Given the description of an element on the screen output the (x, y) to click on. 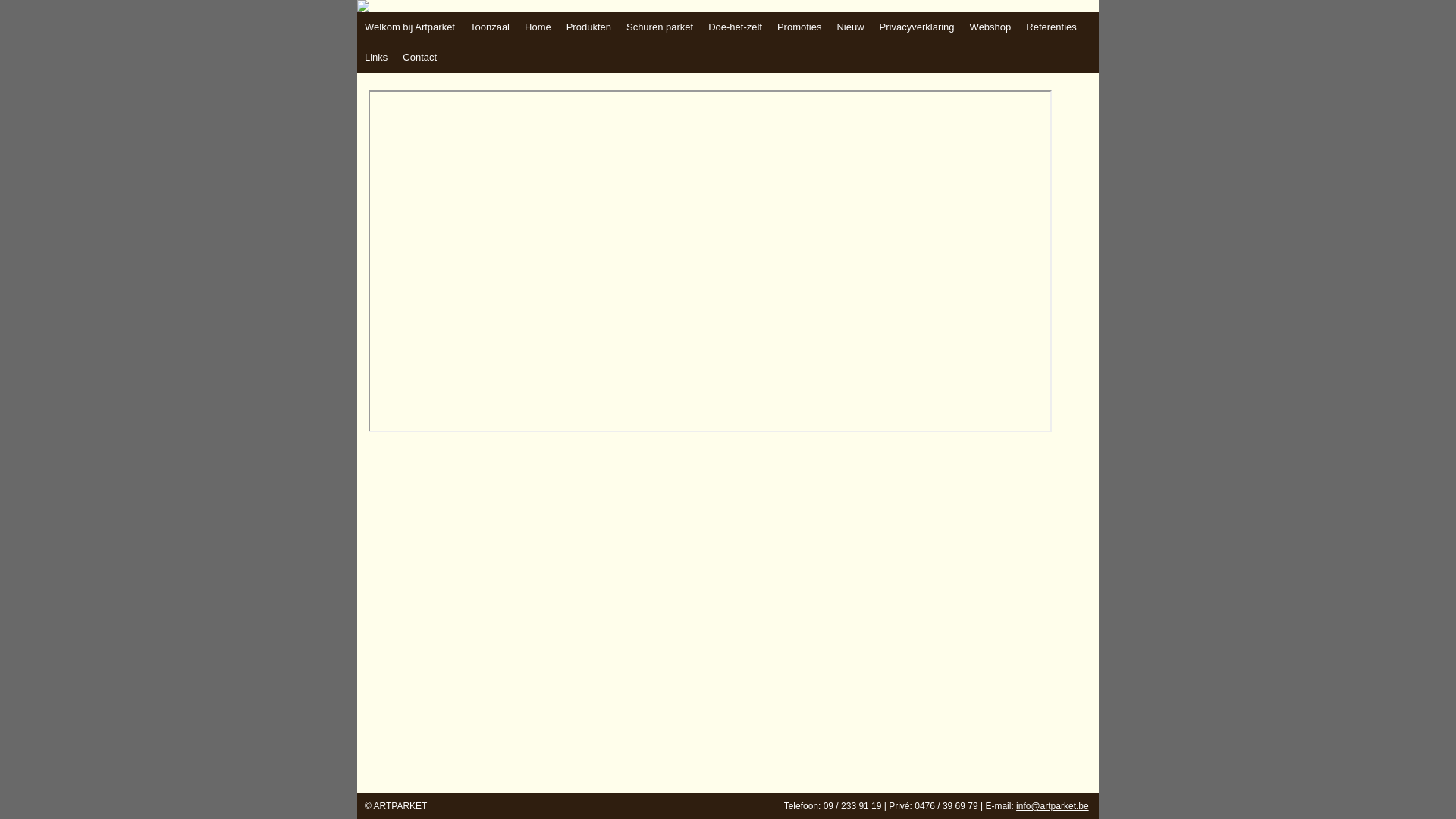
Schuren parket Element type: text (659, 27)
Doe-het-zelf Element type: text (734, 27)
Welkom bij Artparket Element type: text (409, 27)
Webshop Element type: text (990, 27)
Home Element type: text (537, 27)
Privacyverklaring Element type: text (917, 27)
Referenties Element type: text (1050, 27)
Produkten Element type: text (588, 27)
info@artparket.be Element type: text (1052, 805)
Links Element type: text (376, 57)
Nieuw Element type: text (849, 27)
Promoties Element type: text (799, 27)
Toonzaal Element type: text (489, 27)
Contact Element type: text (419, 57)
